Given the description of an element on the screen output the (x, y) to click on. 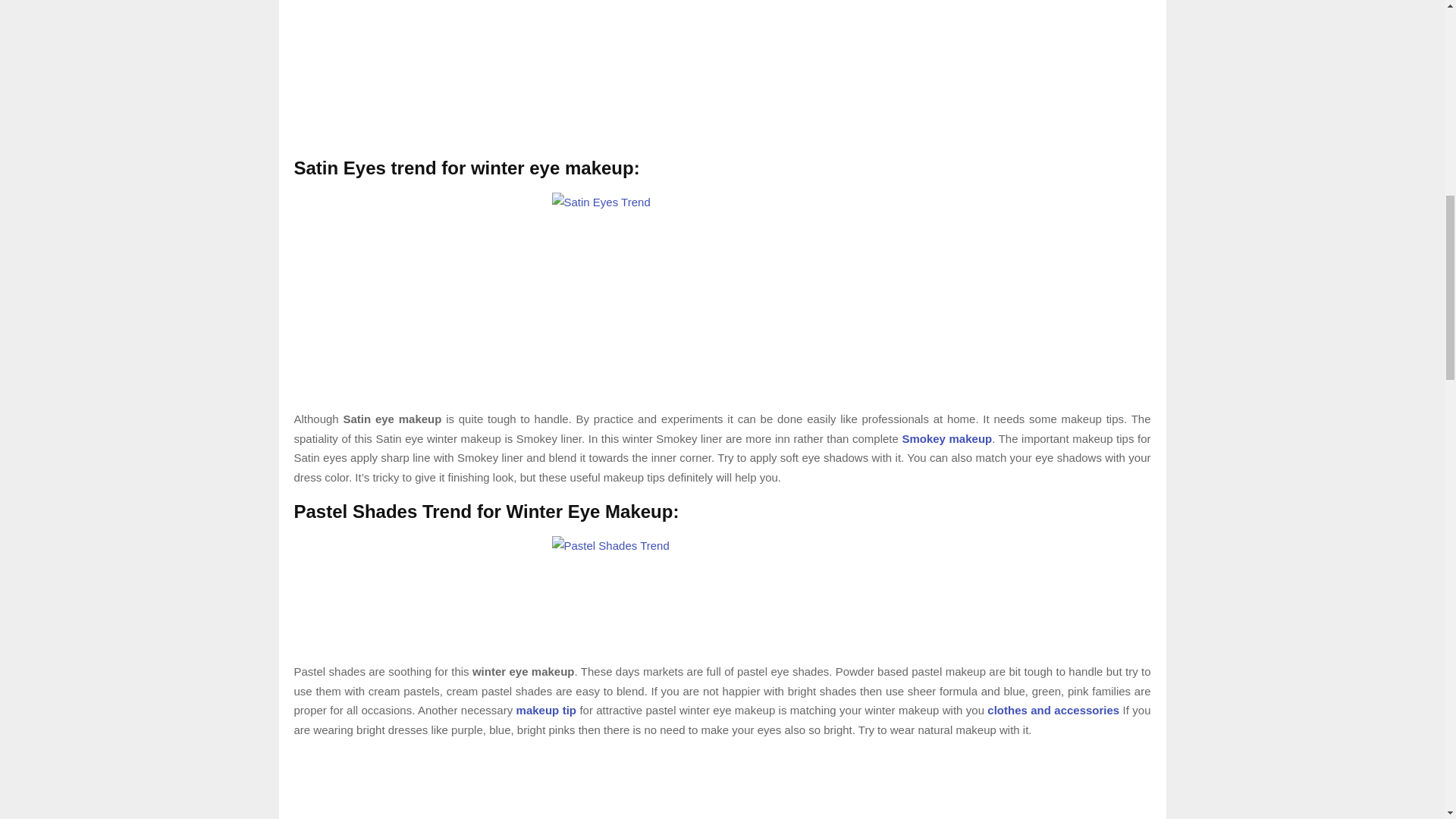
makeup tip (546, 709)
Eye make up look: The Smokey Eyes (946, 438)
clothes and accessories (1053, 709)
Smokey makeup (946, 438)
Makeup Tips (546, 709)
Pastel Shades Trend (722, 598)
Satin Eyes Trend (722, 300)
Fashion Accessories (1053, 709)
